Given the description of an element on the screen output the (x, y) to click on. 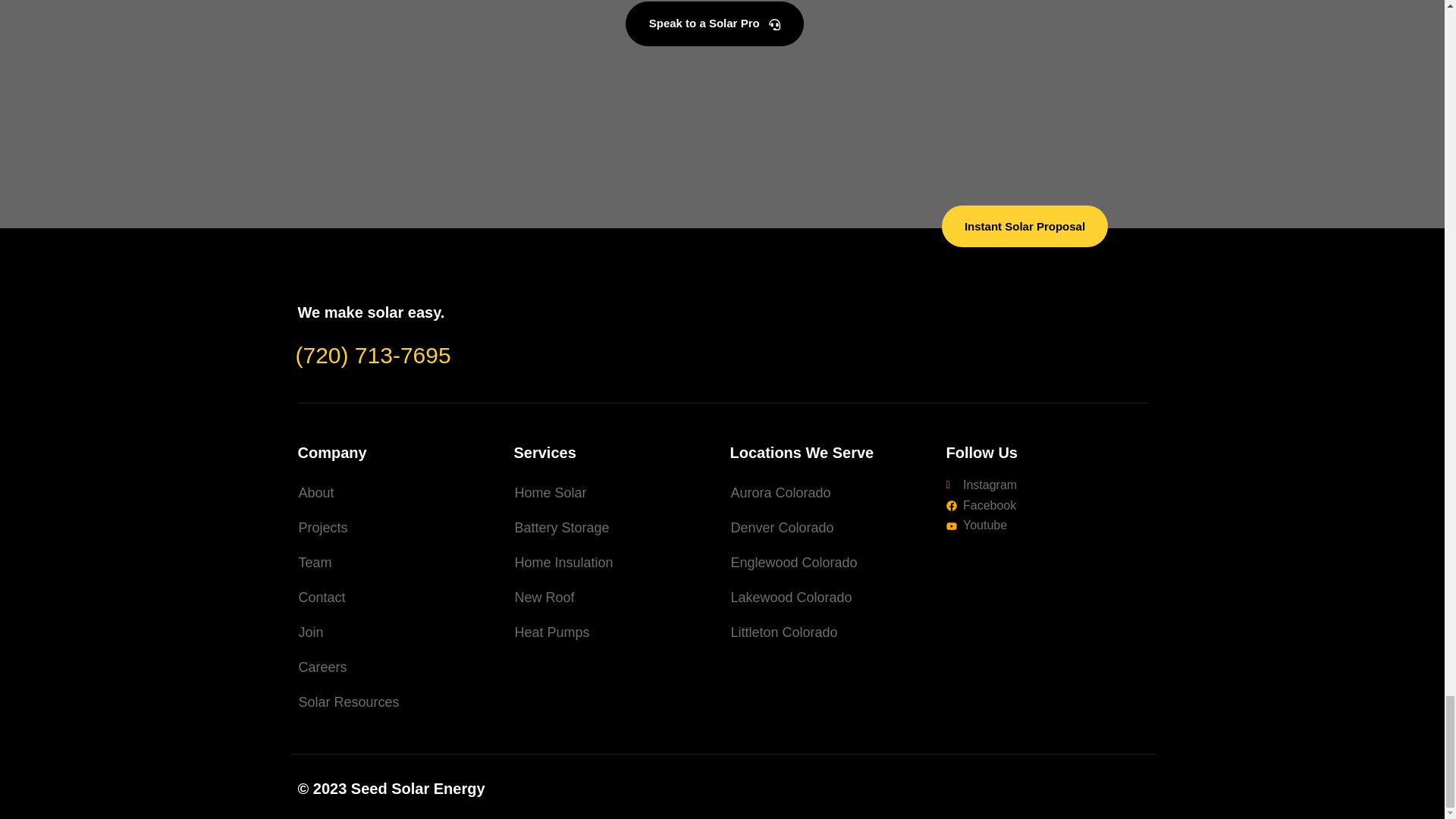
Careers (397, 667)
About (397, 492)
Speak to a Solar Pro (714, 23)
Join (397, 632)
Instant Solar Proposal (1025, 226)
Projects (397, 527)
Team (397, 562)
Contact (397, 597)
